Given the description of an element on the screen output the (x, y) to click on. 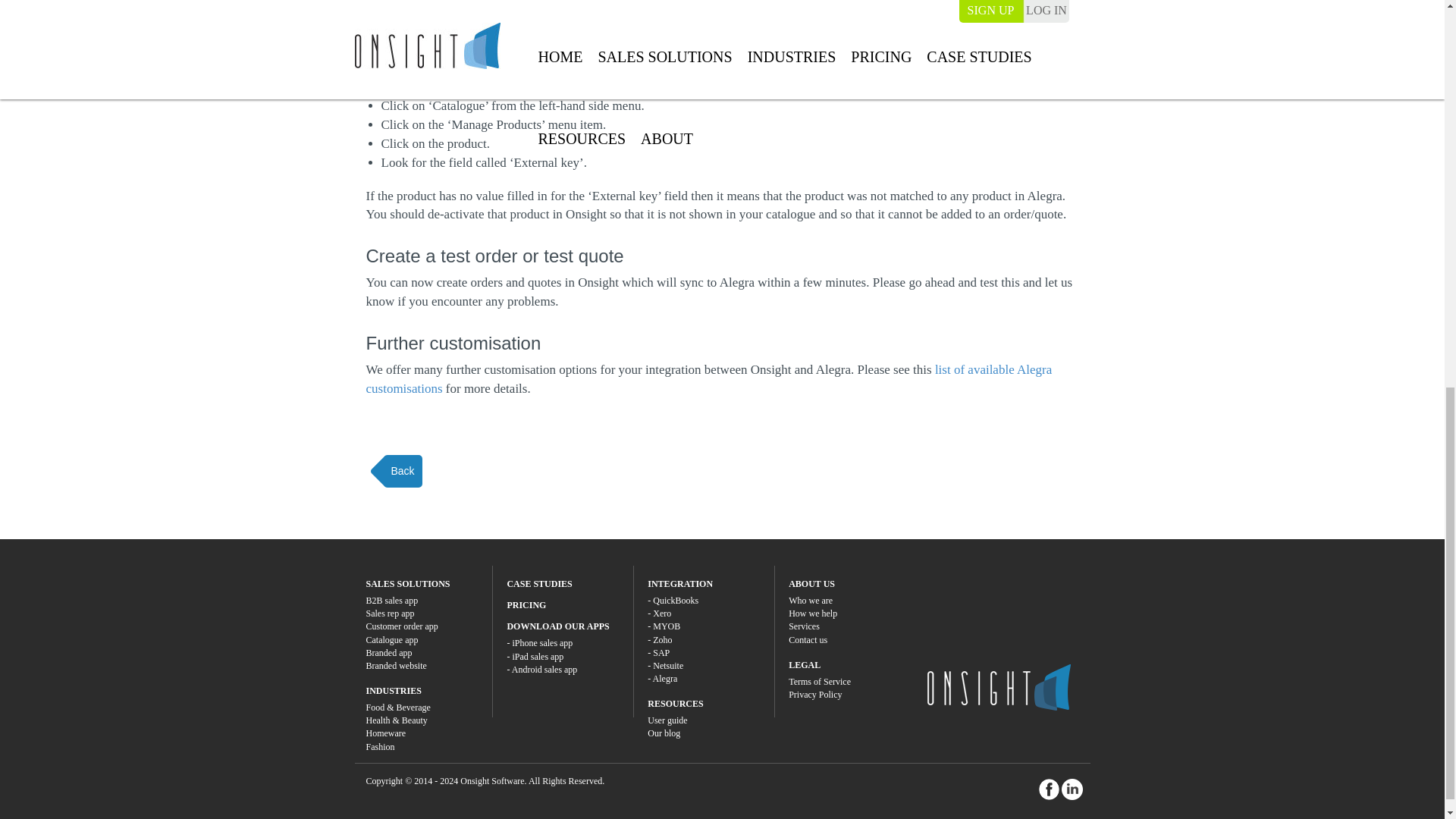
Facebook (1049, 789)
Onsight (998, 687)
LinkedIn (1072, 789)
